Given the description of an element on the screen output the (x, y) to click on. 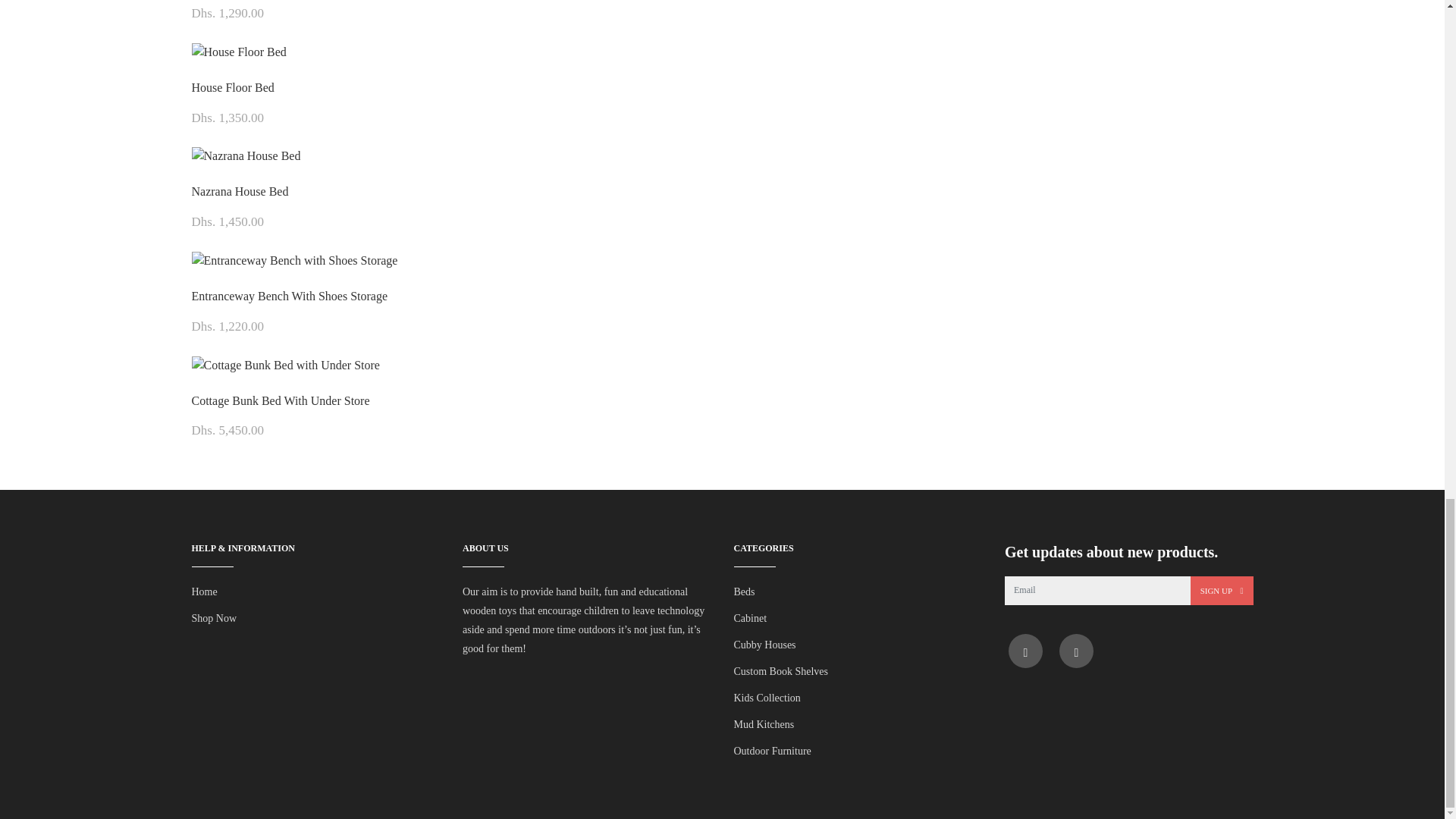
Cubby Houses (764, 644)
Beds (744, 591)
Mud Kitchens (763, 724)
Outdoor Furniture (771, 750)
Custom Book Shelves (780, 671)
Home (203, 591)
Cabinet (750, 618)
Kids Collection (766, 697)
Shop Now (212, 618)
